Given the description of an element on the screen output the (x, y) to click on. 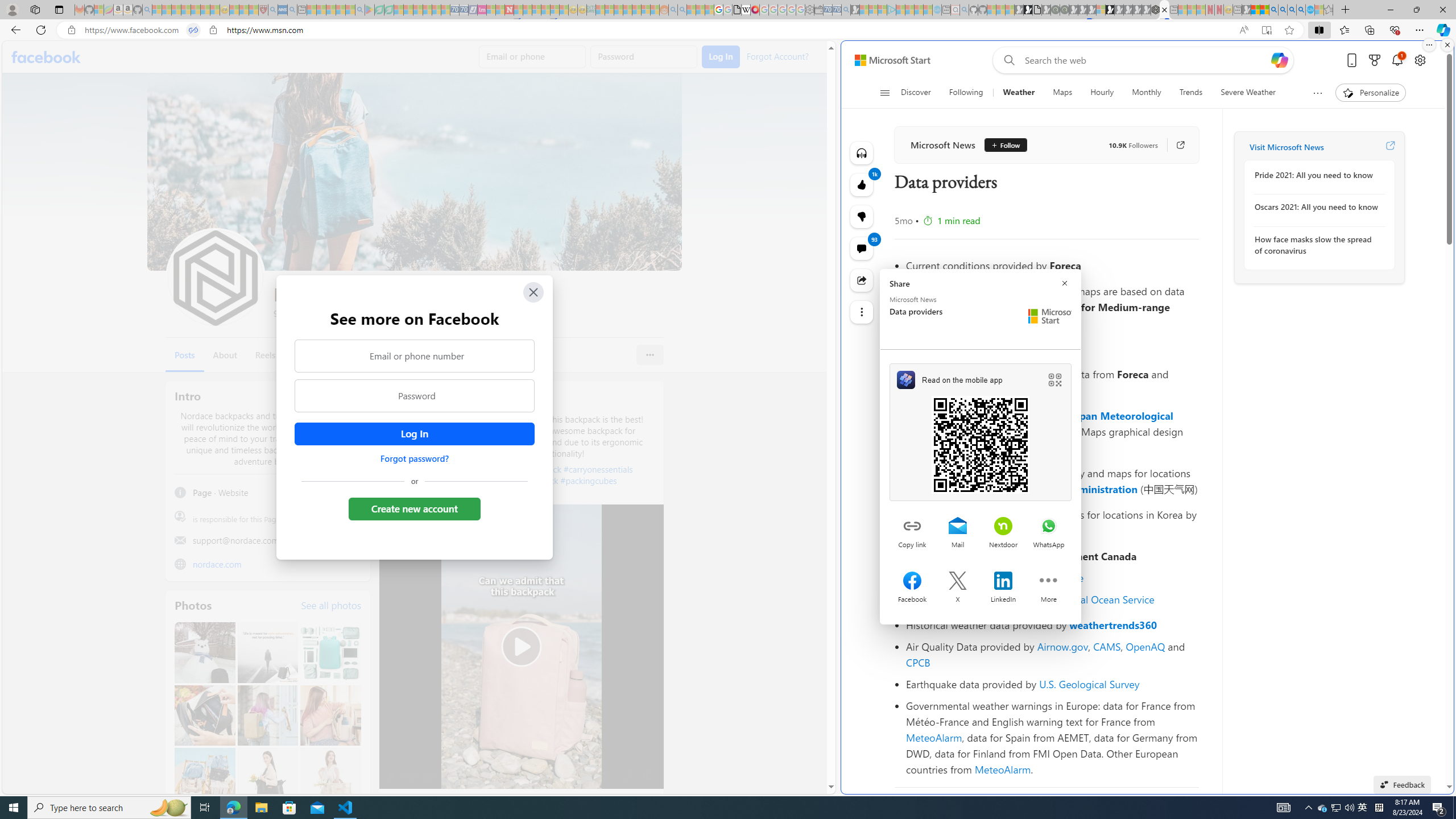
OpenAQ (1144, 646)
Close split screen. (1447, 45)
